Given the description of an element on the screen output the (x, y) to click on. 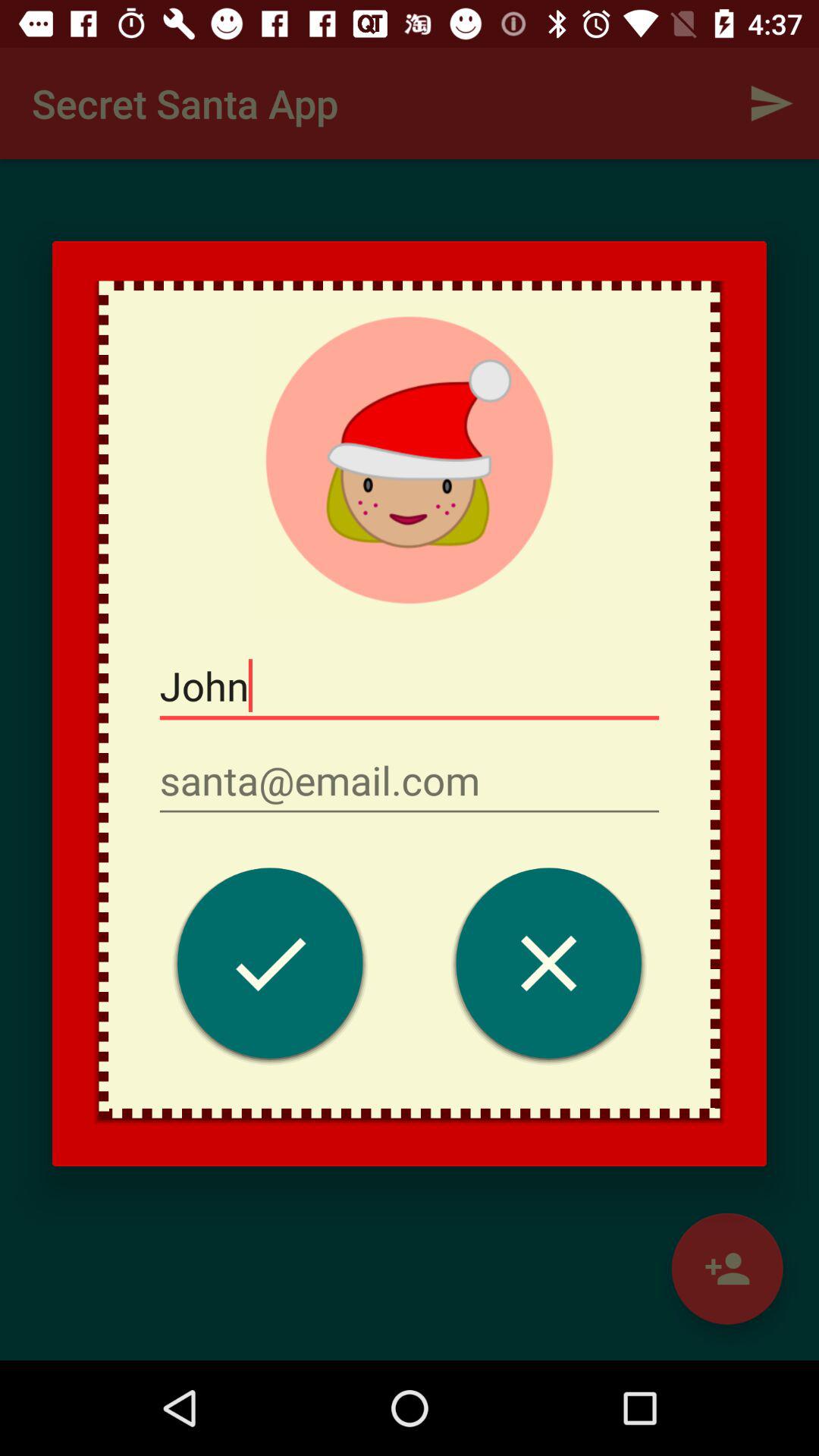
choose the icon on the left (269, 966)
